Given the description of an element on the screen output the (x, y) to click on. 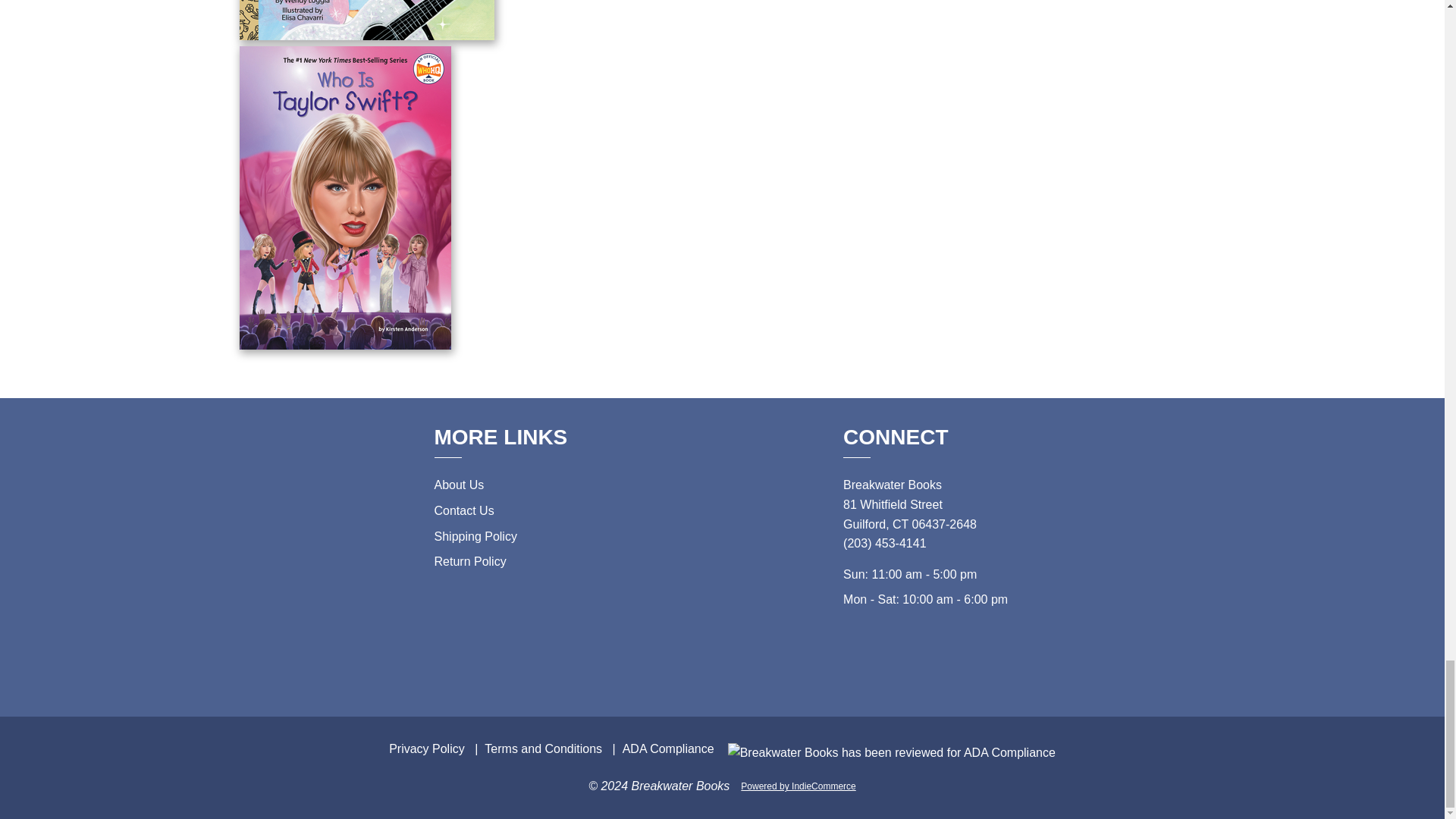
Return Policy (469, 561)
Connect with Facebook (909, 663)
Contact Us (463, 510)
Connect with Instagram (943, 663)
Shipping Policy (474, 535)
About Us (458, 484)
